Given the description of an element on the screen output the (x, y) to click on. 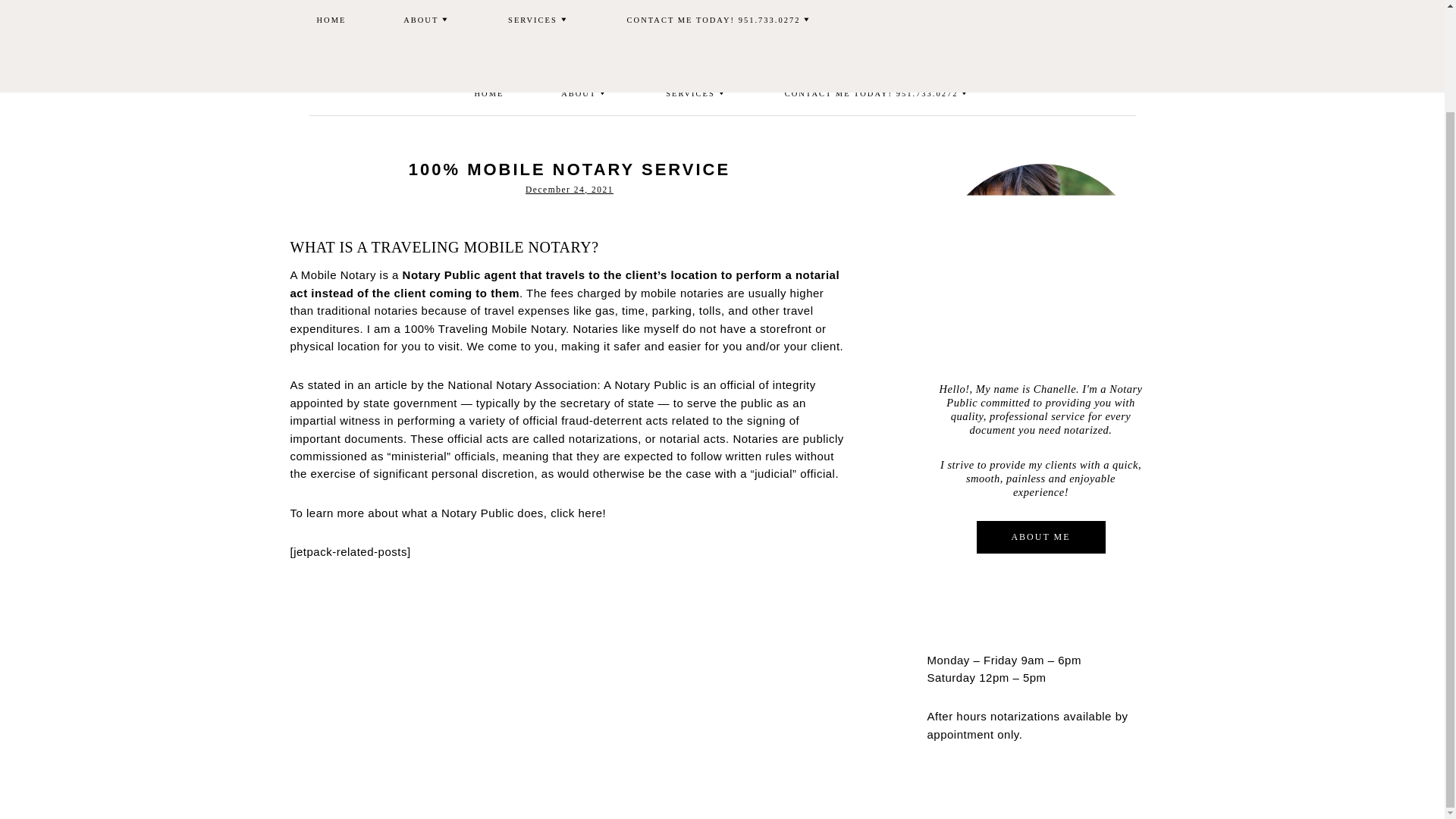
CONTACT ME TODAY! 951.733.0272 (877, 94)
WHITE QUILL BLACK INK (721, 36)
click here (576, 512)
SERVICES (696, 94)
HOME (489, 94)
ABOUT (584, 94)
National Notary Association (522, 384)
ABOUT ME (1040, 536)
